Given the description of an element on the screen output the (x, y) to click on. 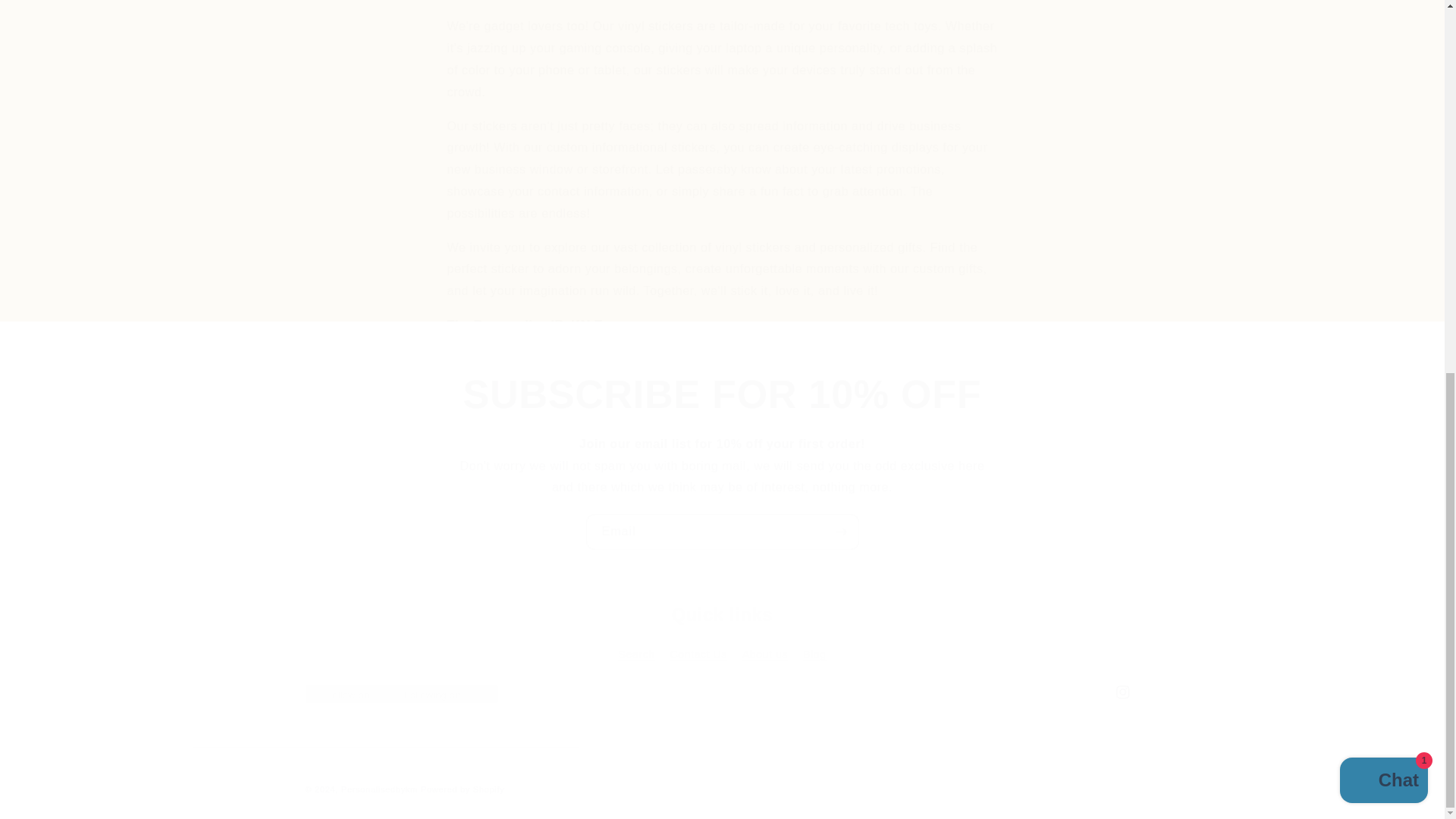
Email (722, 531)
Instagram (721, 636)
Shopify online store chat (721, 692)
